Given the description of an element on the screen output the (x, y) to click on. 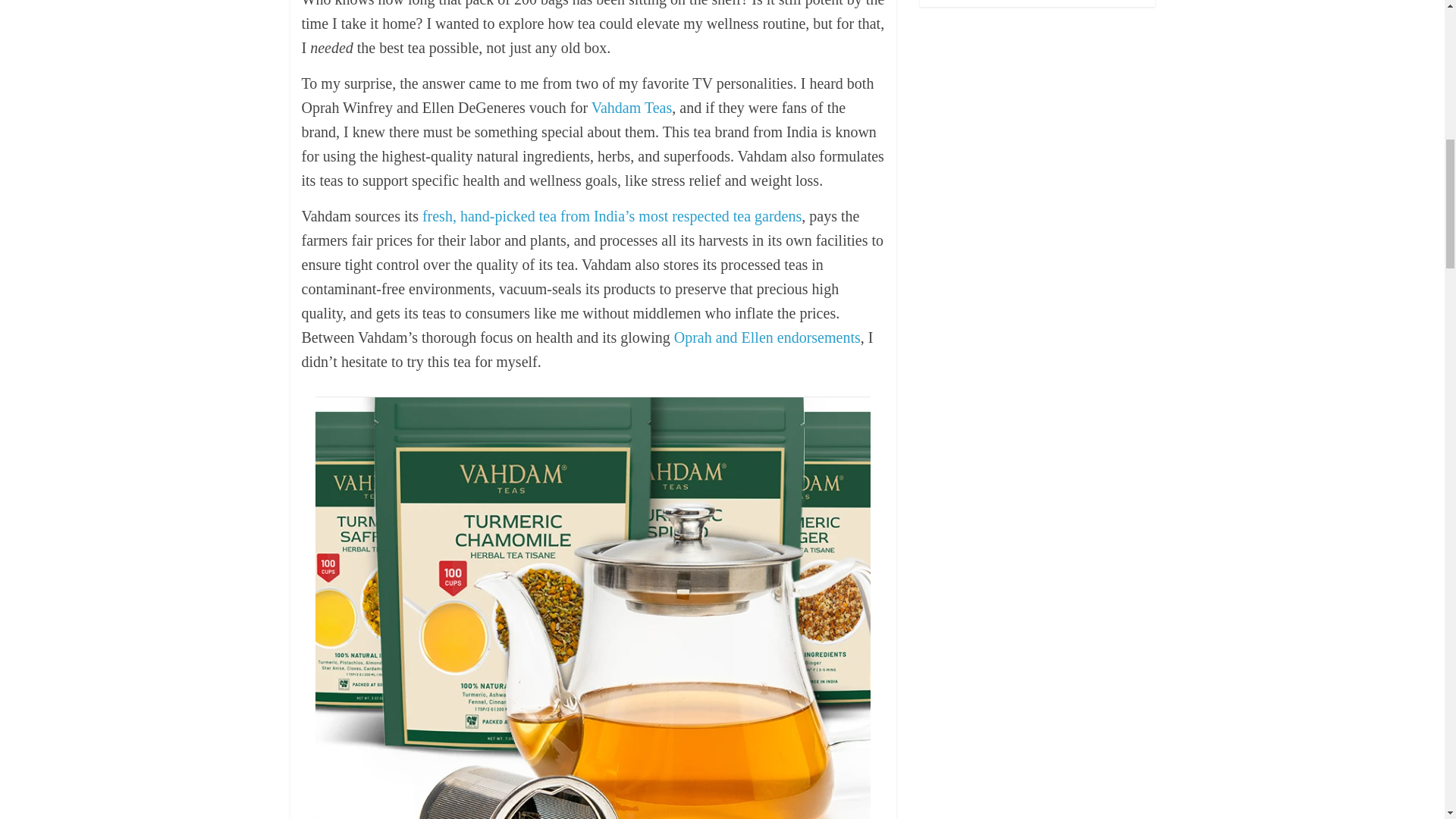
Vahdam Teas (631, 107)
Oprah and Ellen endorsements (767, 337)
